Given the description of an element on the screen output the (x, y) to click on. 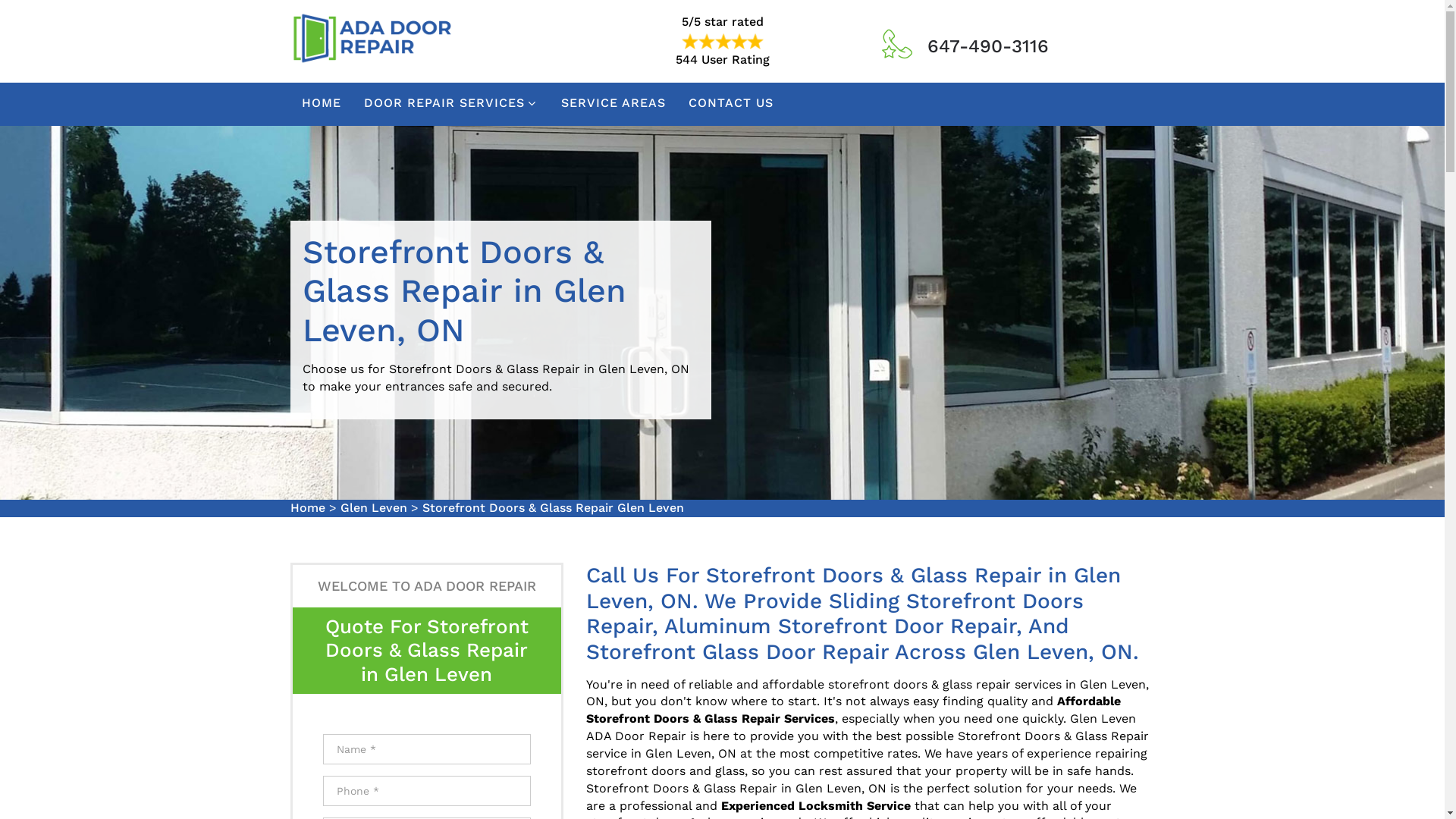
647-490-3116 Element type: text (987, 45)
SERVICE AREAS Element type: text (613, 104)
Storefront Doors & Glass Repair Glen Leven Element type: text (552, 507)
Home Element type: text (306, 507)
CONTACT US Element type: text (730, 104)
HOME Element type: text (321, 104)
DOOR REPAIR SERVICES Element type: text (451, 104)
Glen Leven Element type: text (372, 507)
